Given the description of an element on the screen output the (x, y) to click on. 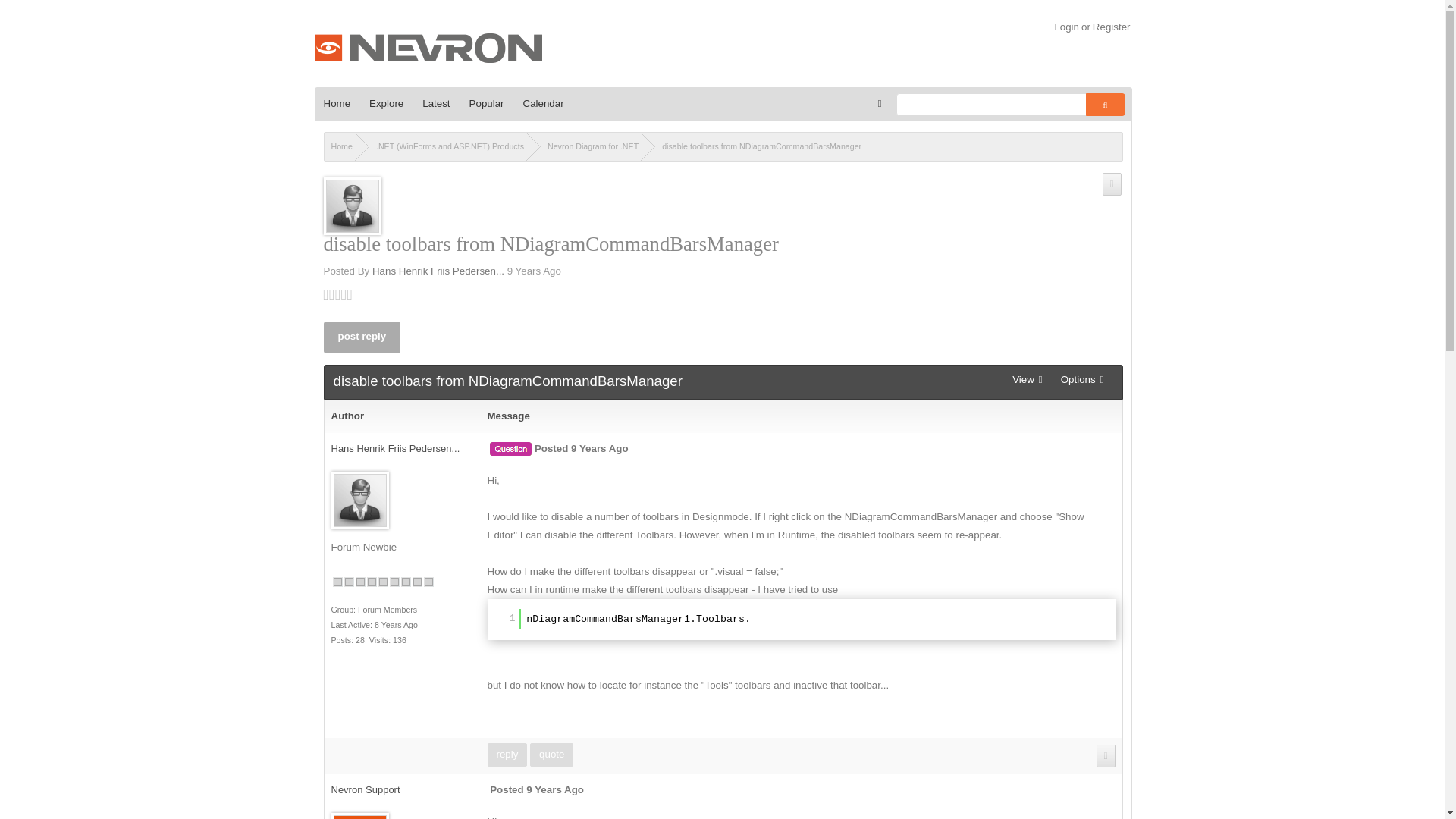
Latest (436, 103)
Popular (486, 103)
Calendar (543, 103)
Home (336, 103)
Hans Henrik Friis Pedersen... (395, 448)
Explore (386, 103)
Home (336, 103)
View Hans Henrik Friis Pedersen...'s Profile... (437, 270)
Popular (486, 103)
Latest (436, 103)
